Given the description of an element on the screen output the (x, y) to click on. 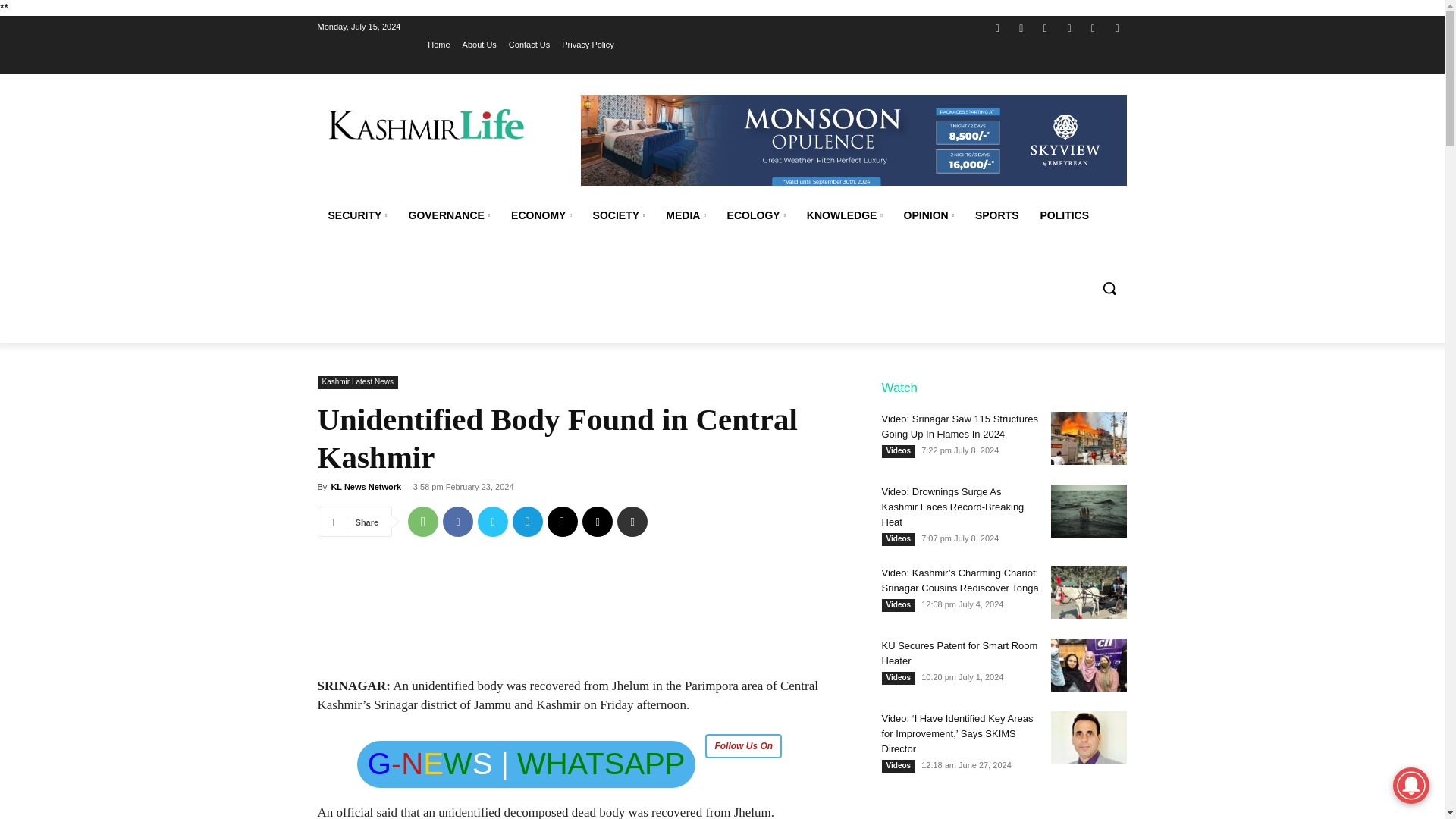
Youtube (1116, 28)
WhatsApp (1093, 28)
Facebook (997, 28)
Twitter (1045, 28)
WhatsApp (422, 521)
Website (1069, 28)
Instagram (1021, 28)
